Given the description of an element on the screen output the (x, y) to click on. 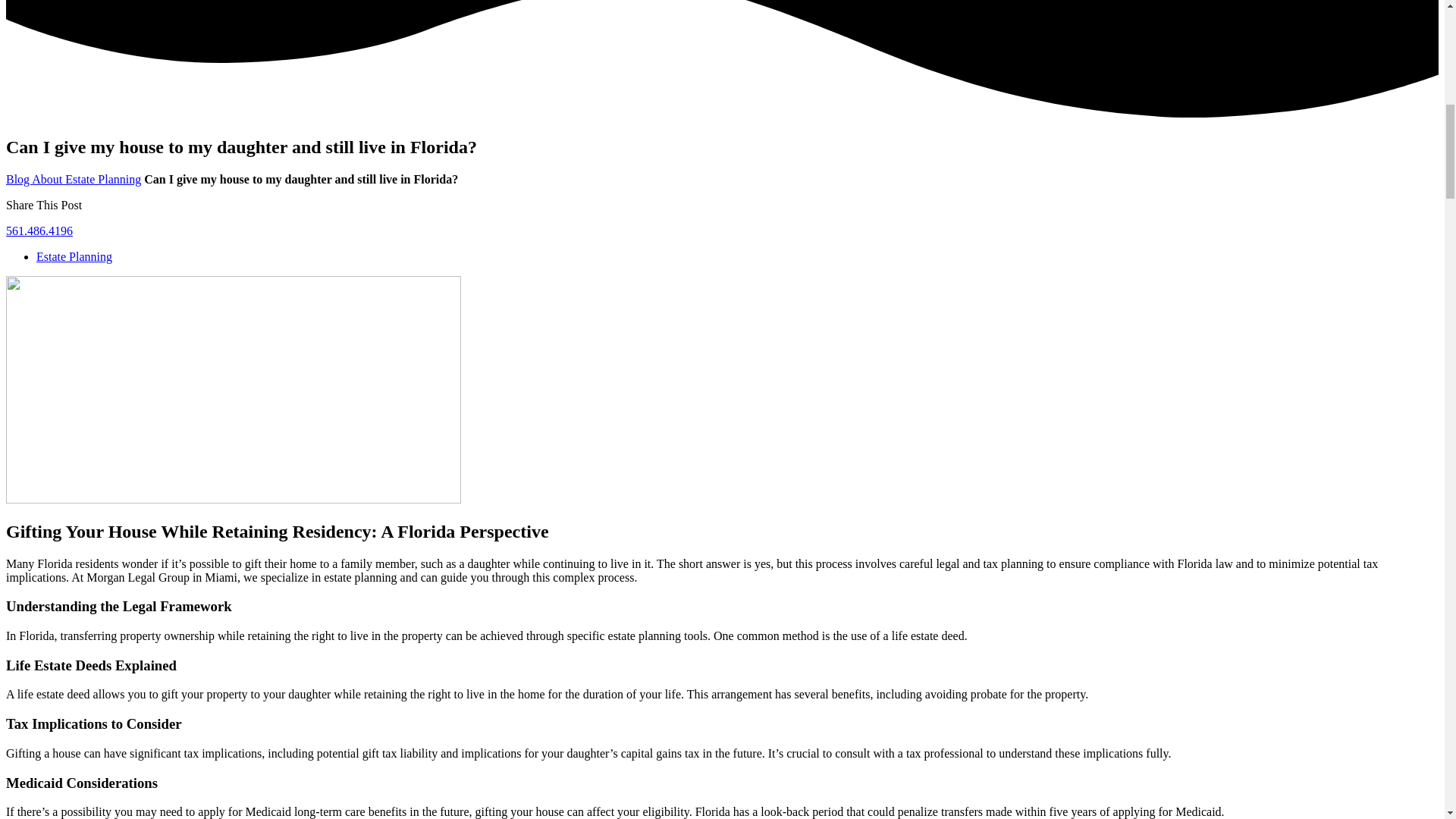
561.486.4196 (38, 230)
Estate Planning (74, 256)
Blog About Estate Planning (73, 178)
